Given the description of an element on the screen output the (x, y) to click on. 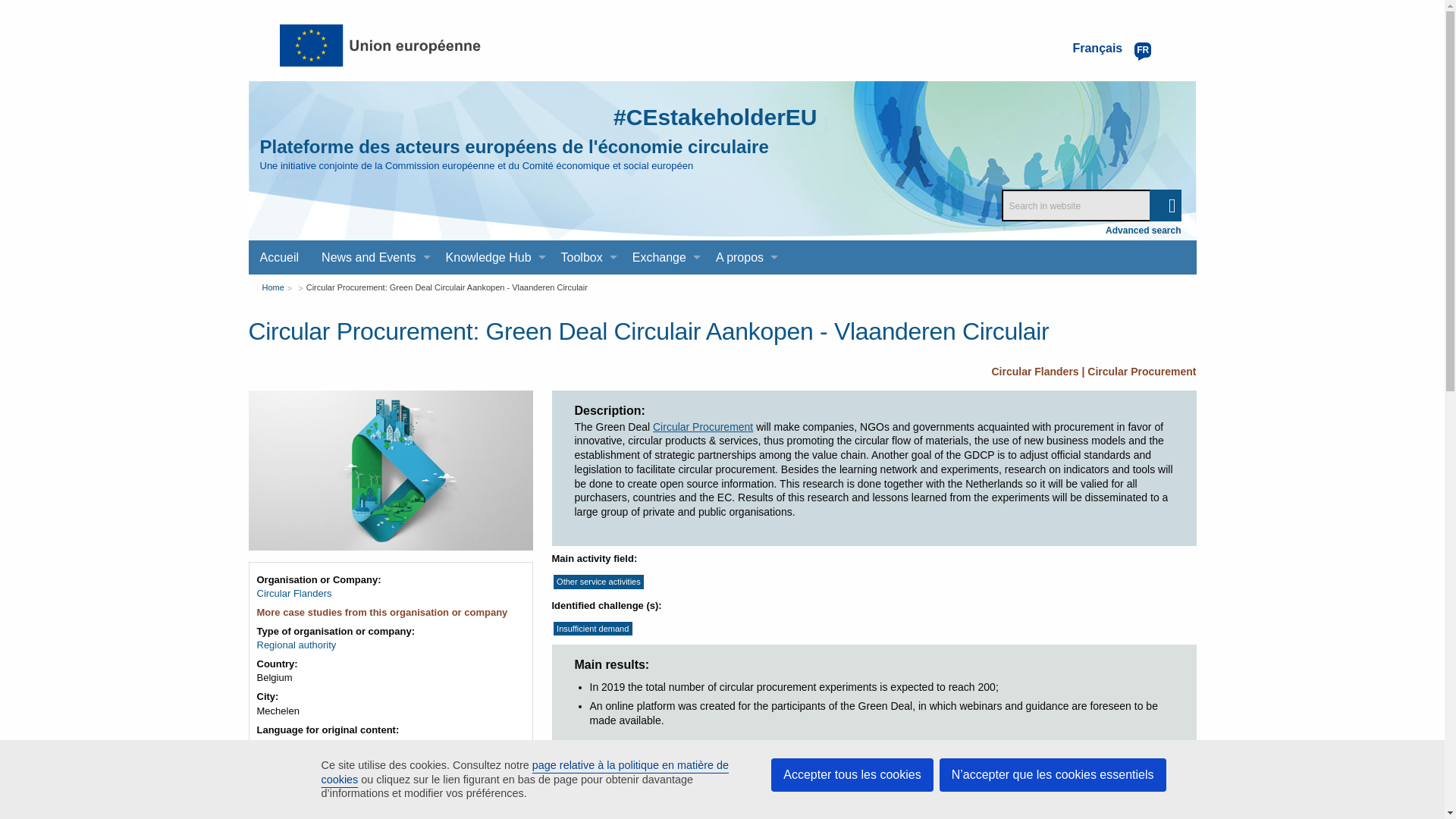
Search in website (1090, 205)
Toolbox (585, 257)
News and Events (371, 257)
Accueil (279, 257)
Accueil (279, 257)
Search (1165, 205)
Knowledge Hub (491, 257)
search the database (1165, 205)
Accepter tous les cookies (852, 774)
